Given the description of an element on the screen output the (x, y) to click on. 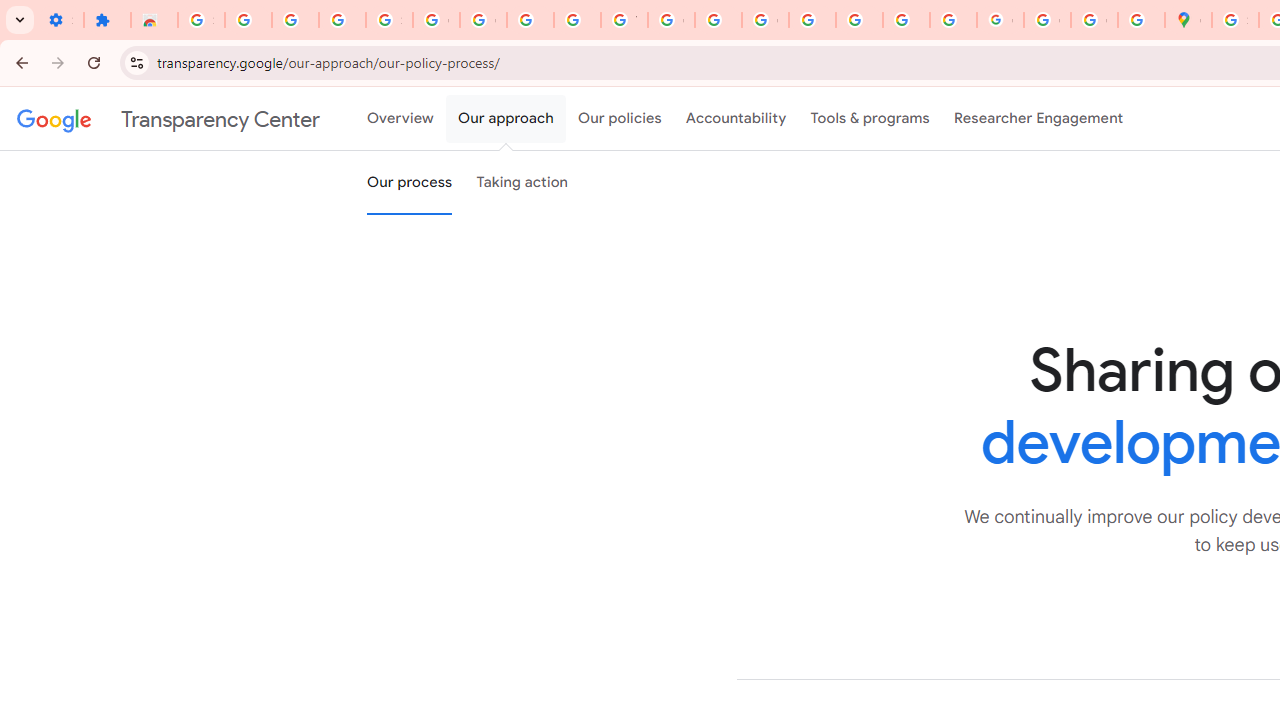
Google Account Help (482, 20)
Our policies (619, 119)
YouTube (623, 20)
Our approach (506, 119)
Tools & programs (869, 119)
Sign in - Google Accounts (389, 20)
Google Account Help (436, 20)
